Given the description of an element on the screen output the (x, y) to click on. 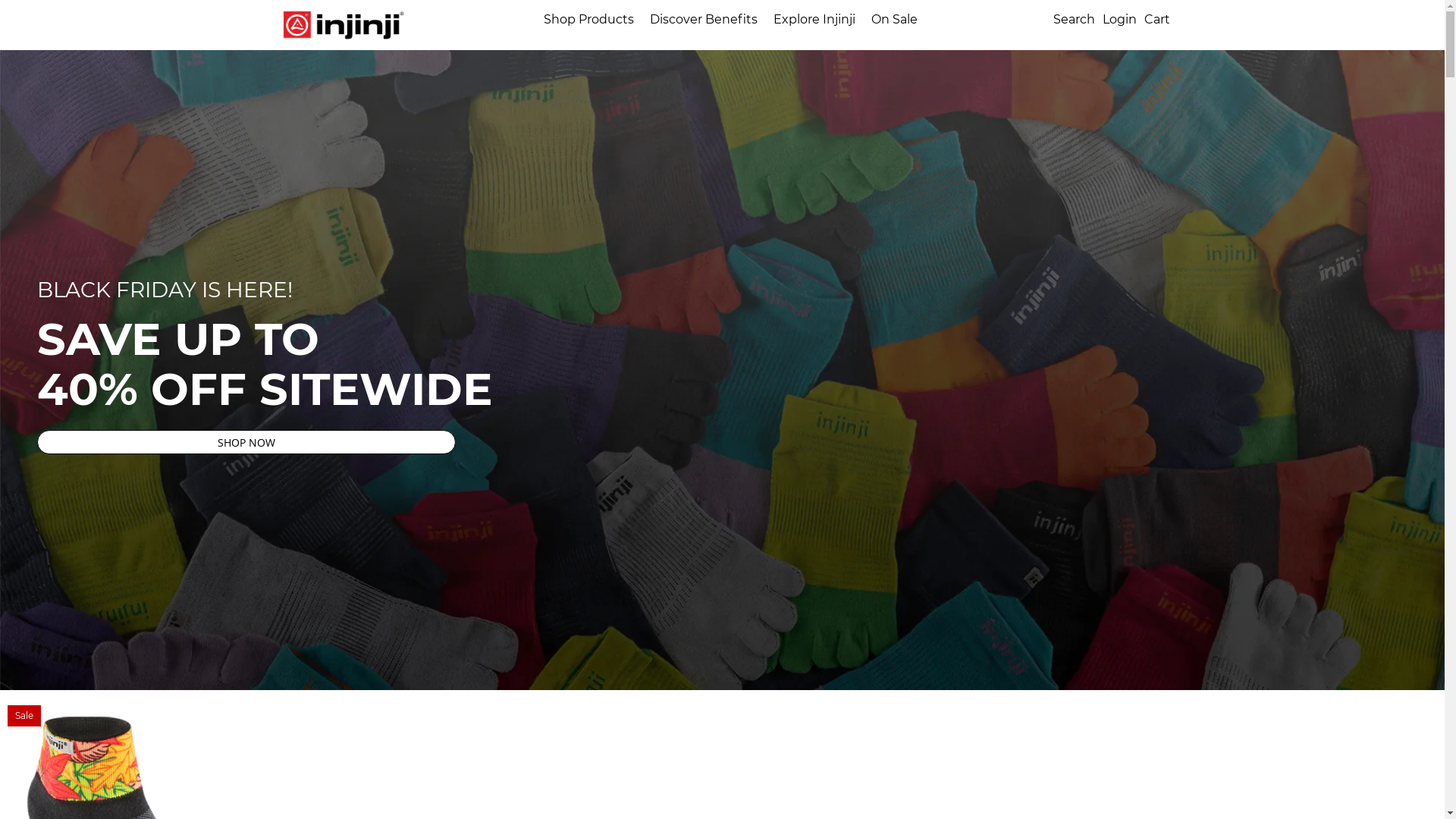
Cart Element type: text (1156, 19)
Injinji Australia Element type: hover (343, 24)
Search Element type: text (1073, 25)
SHOP NOW Element type: text (246, 441)
On Sale Element type: text (893, 19)
Shop Products Element type: text (588, 19)
Login Element type: text (1118, 25)
Discover Benefits Element type: text (703, 19)
Explore Injinji Element type: text (814, 19)
